Given the description of an element on the screen output the (x, y) to click on. 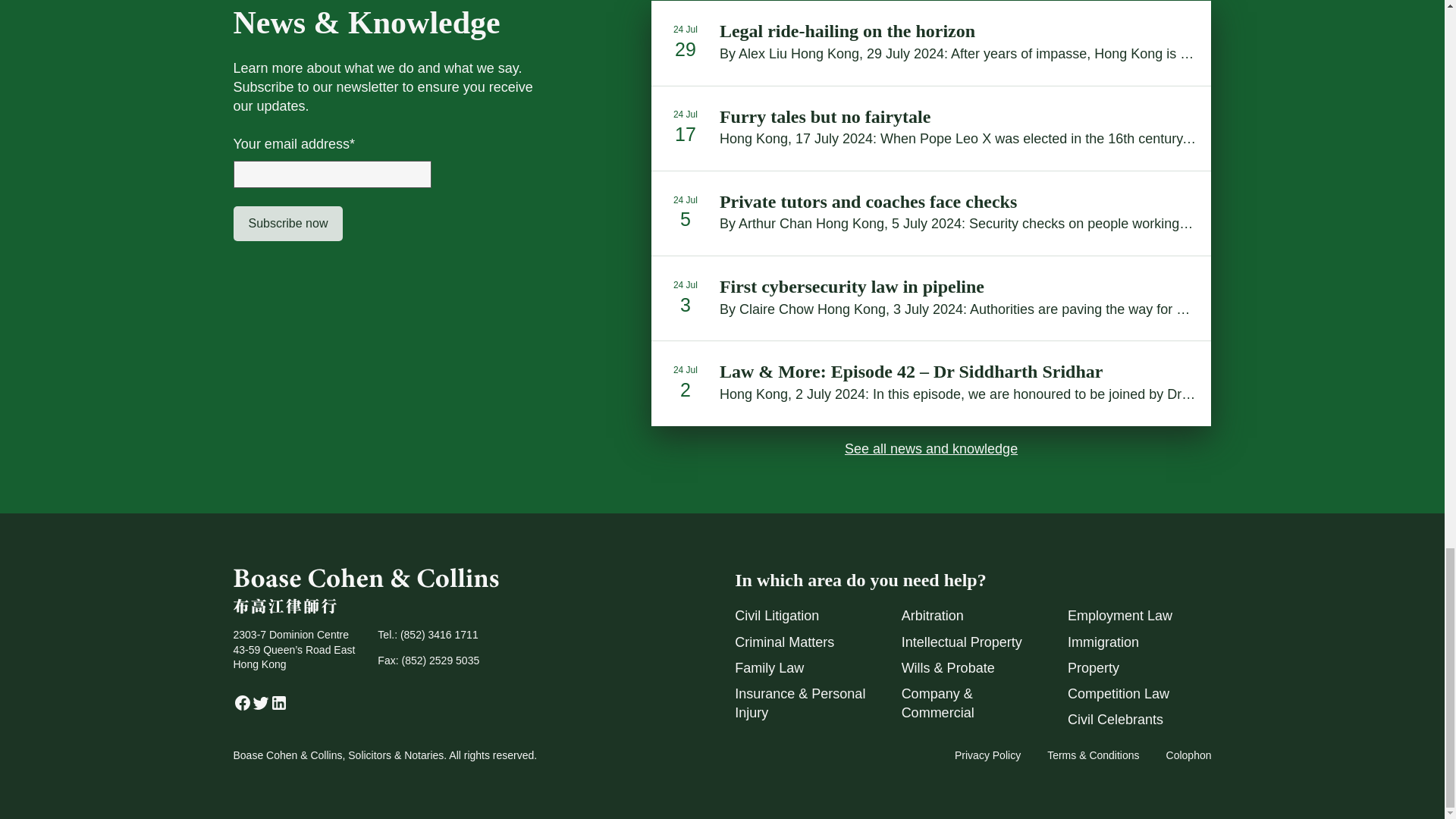
See all news and knowledge (930, 448)
Facebook (241, 707)
Arbitration (932, 615)
Criminal Matters (784, 642)
Civil Litigation (776, 615)
Immigration (1102, 642)
Family Law (769, 667)
Linkedin (278, 707)
Subscribe now (287, 223)
Intellectual Property (961, 642)
